Given the description of an element on the screen output the (x, y) to click on. 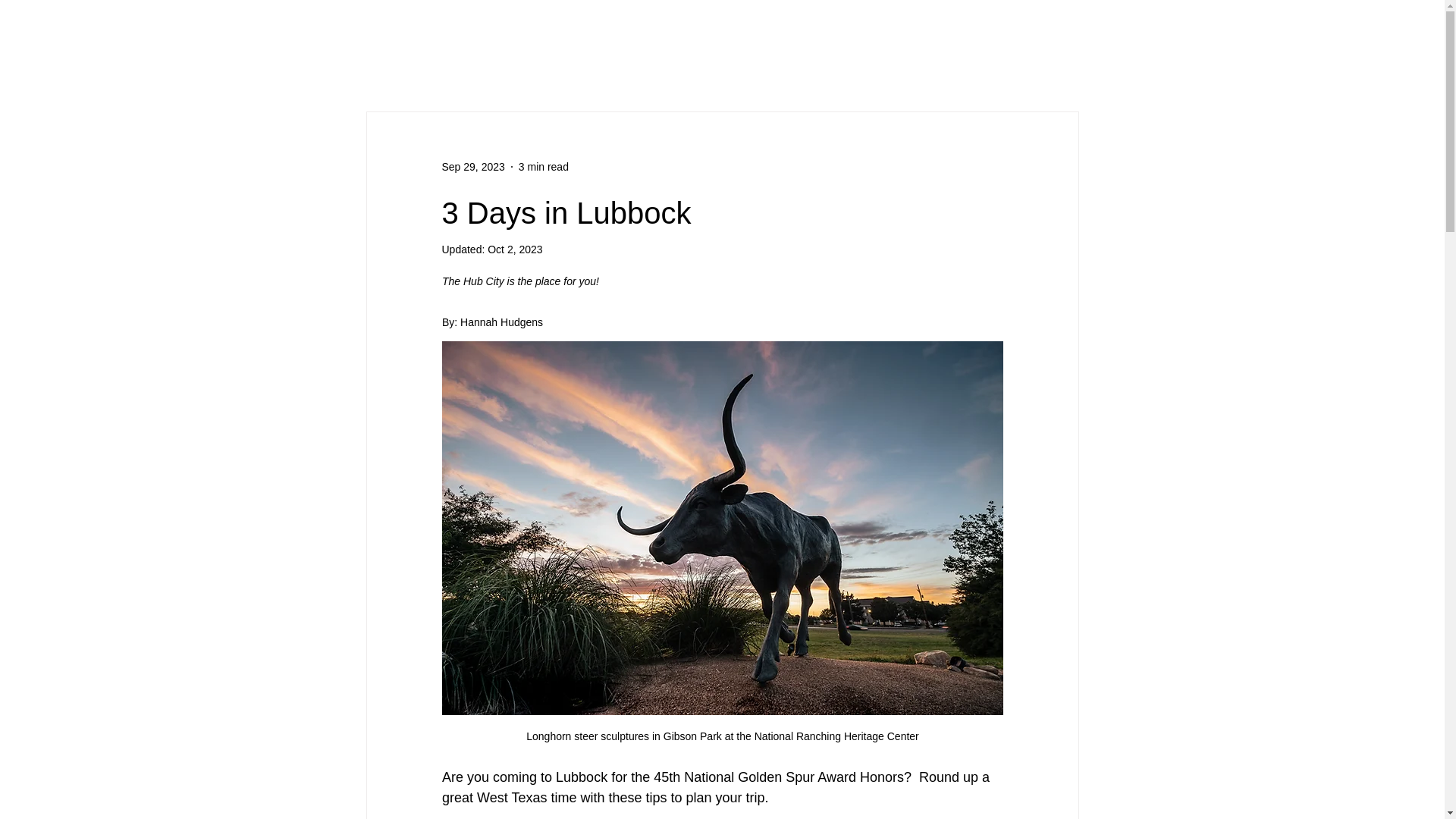
3 min read (543, 166)
Sep 29, 2023 (472, 166)
Oct 2, 2023 (514, 249)
